Given the description of an element on the screen output the (x, y) to click on. 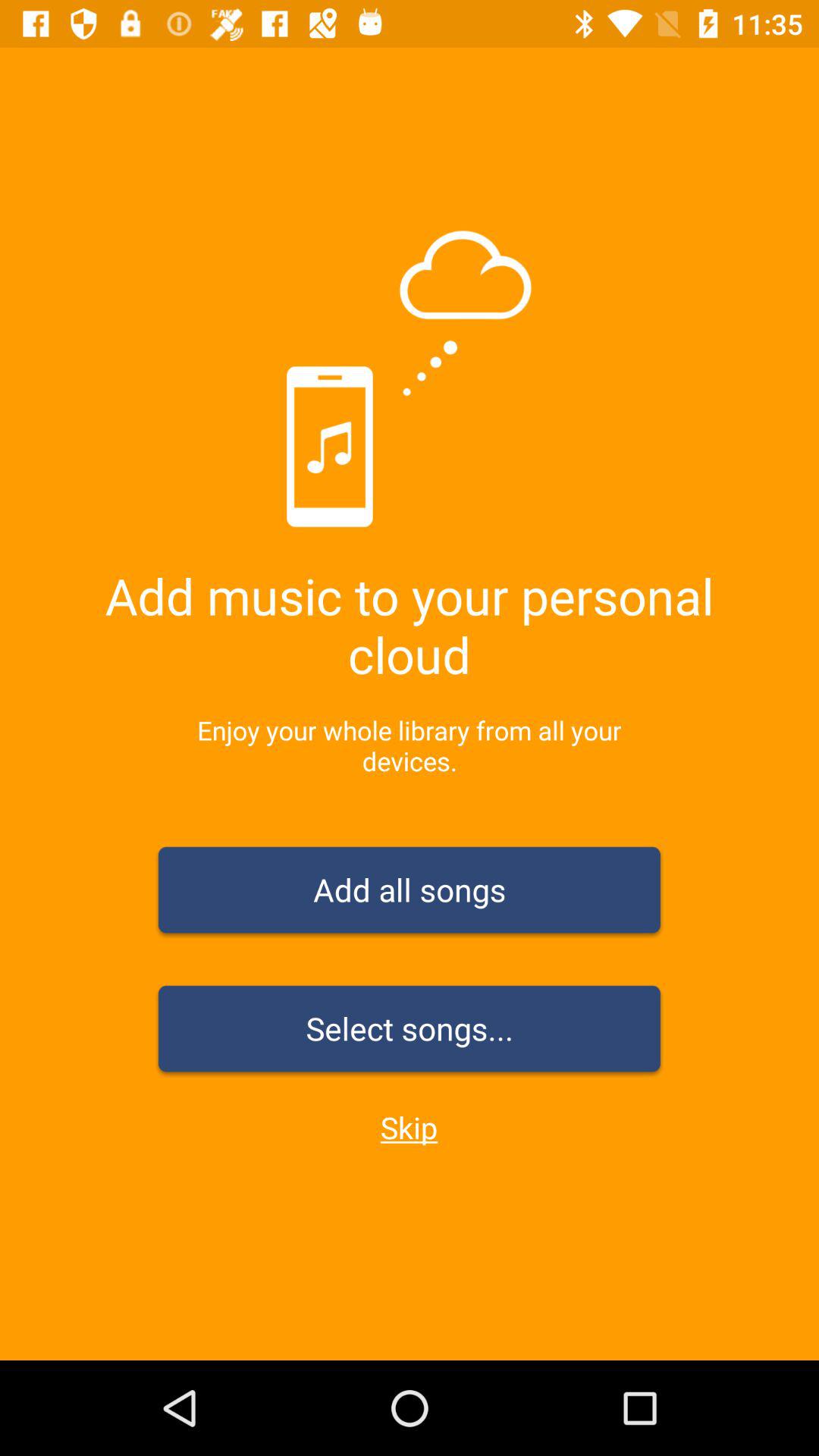
click the skip (408, 1127)
